Given the description of an element on the screen output the (x, y) to click on. 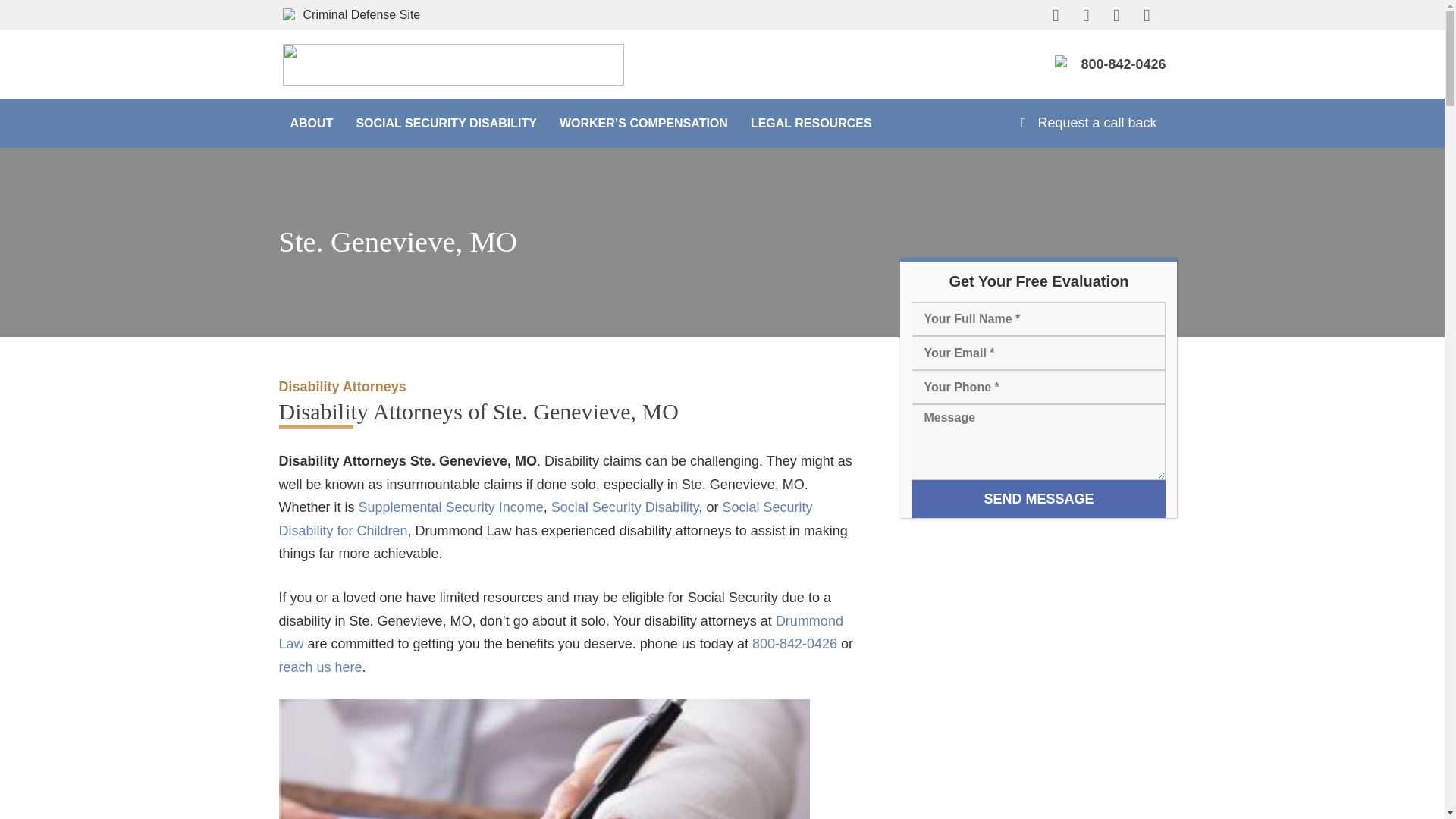
LEGAL RESOURCES (811, 123)
Criminal Defense Site (373, 14)
Social Security Disability (624, 507)
Send Message (1038, 498)
Drummond Law (561, 632)
ABOUT (312, 123)
SOCIAL SECURITY DISABILITY (445, 123)
Supplemental Security Income (450, 507)
800-842-0426 (1123, 64)
Social Security Disability for Children (545, 518)
